Given the description of an element on the screen output the (x, y) to click on. 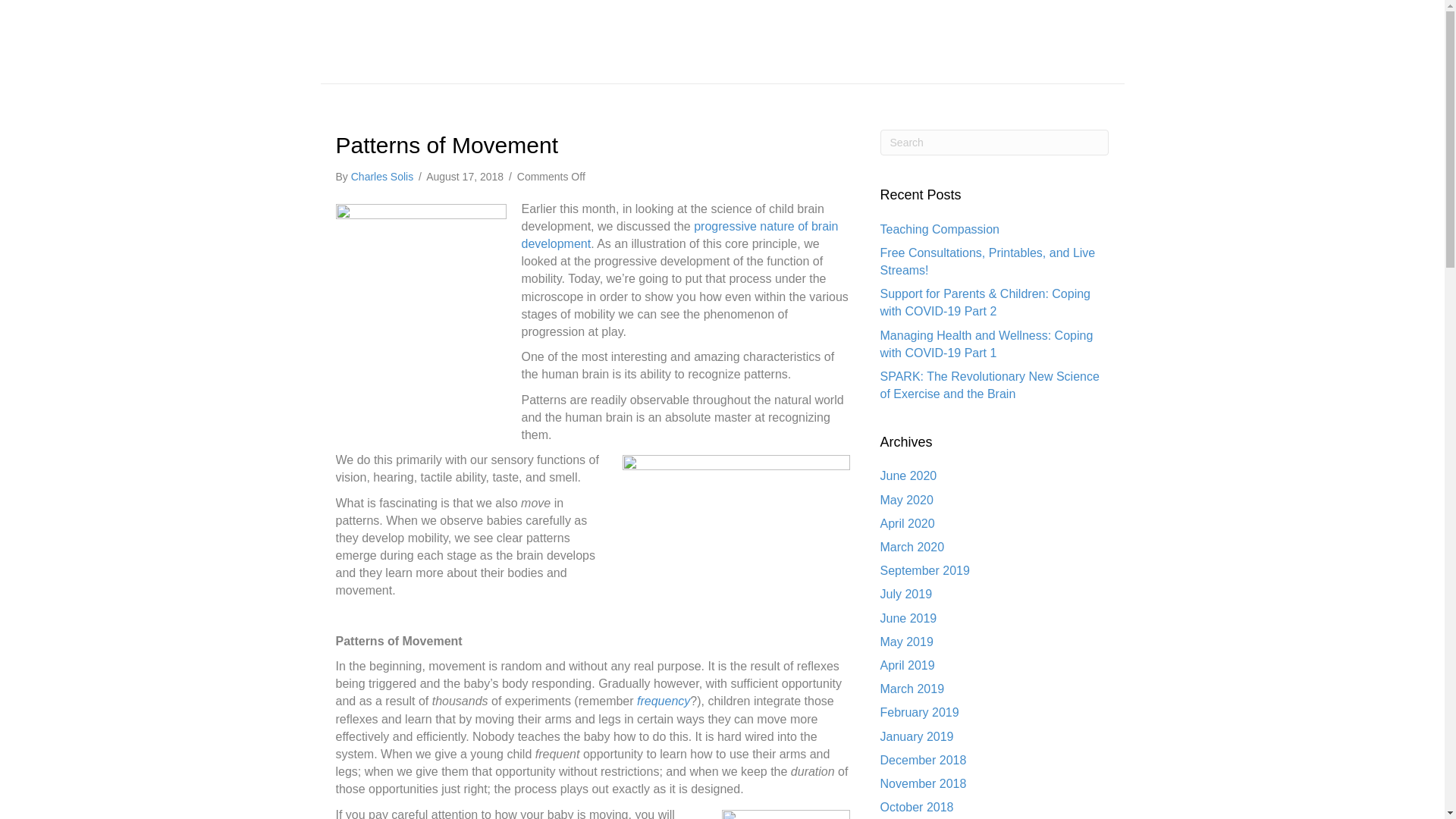
June 2019 (908, 617)
frequency (663, 700)
Free Consultations, Printables, and Live Streams! (988, 261)
June 2020 (908, 475)
March 2020 (912, 546)
Type and press Enter to search. (994, 142)
Patterns of Movement (445, 145)
July 2019 (906, 594)
April 2020 (907, 522)
